Given the description of an element on the screen output the (x, y) to click on. 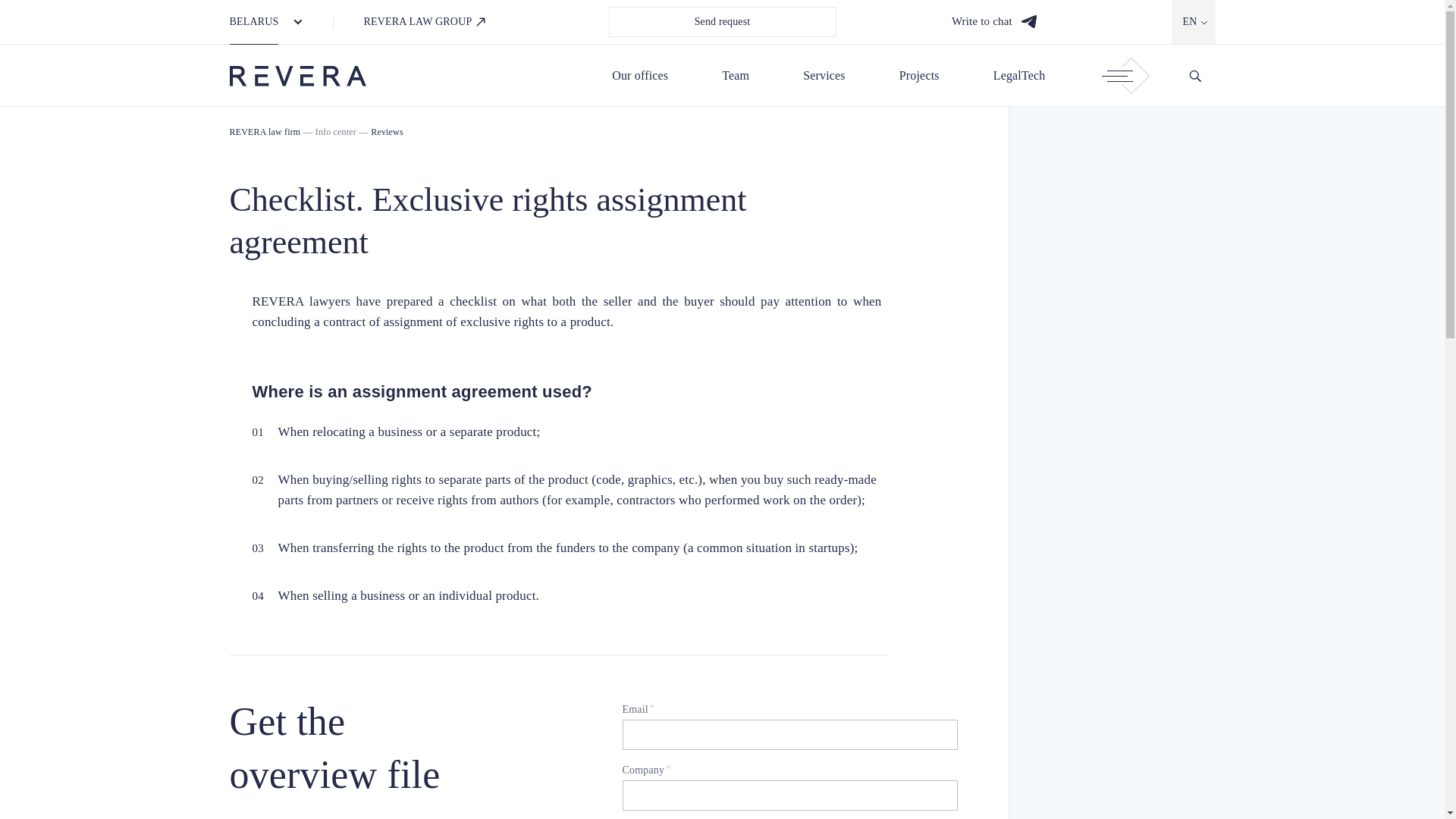
Write to chat (994, 21)
Send request (721, 21)
Team (735, 74)
REVERA LAW GROUP (424, 22)
Our offices (639, 74)
Search (1194, 75)
Services (824, 74)
